Given the description of an element on the screen output the (x, y) to click on. 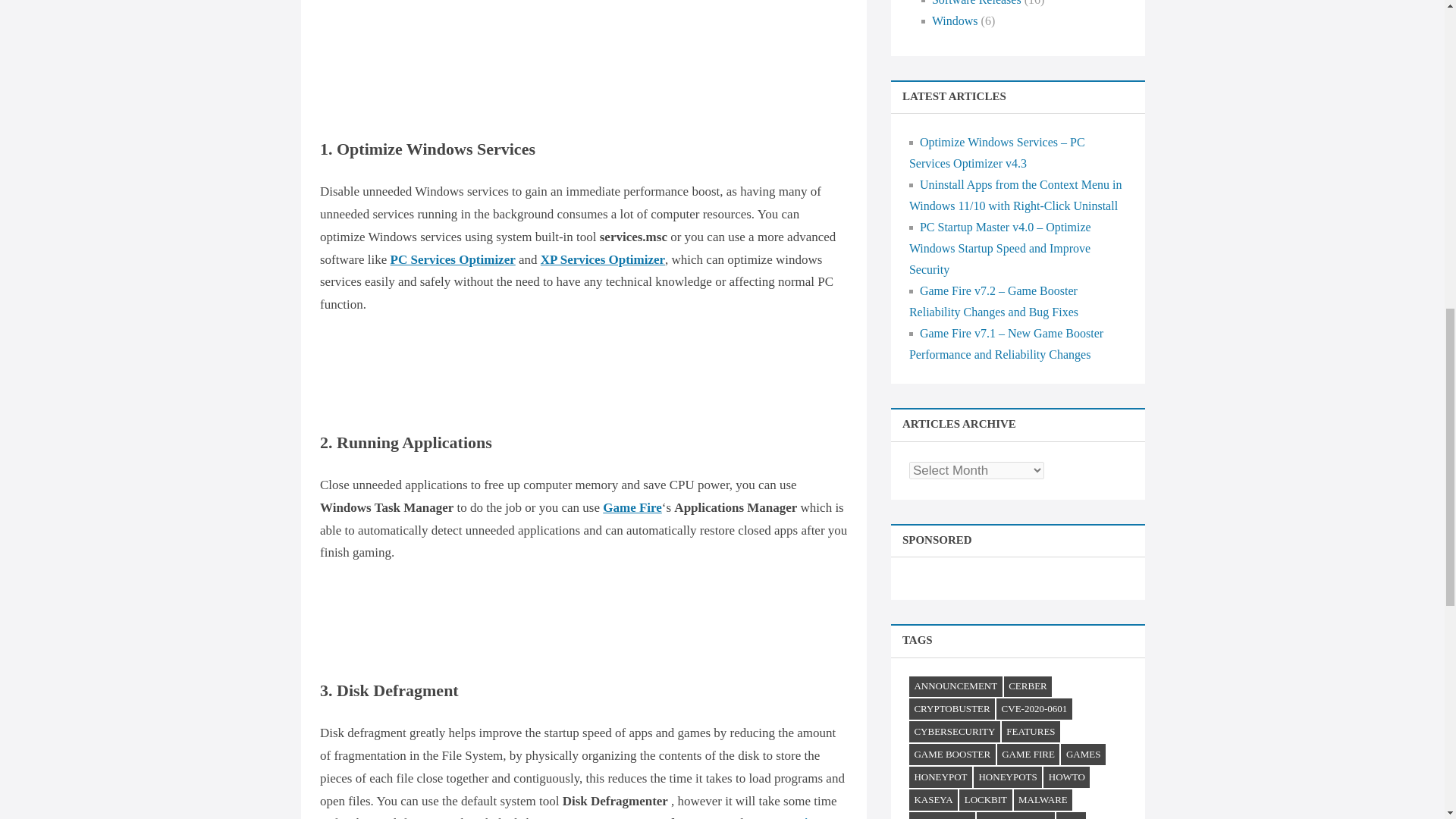
PC Services Optimizer (452, 259)
Advertisement (604, 40)
XP Services Optimizer (602, 259)
Game Fire (632, 507)
Game Fire (789, 817)
